Given the description of an element on the screen output the (x, y) to click on. 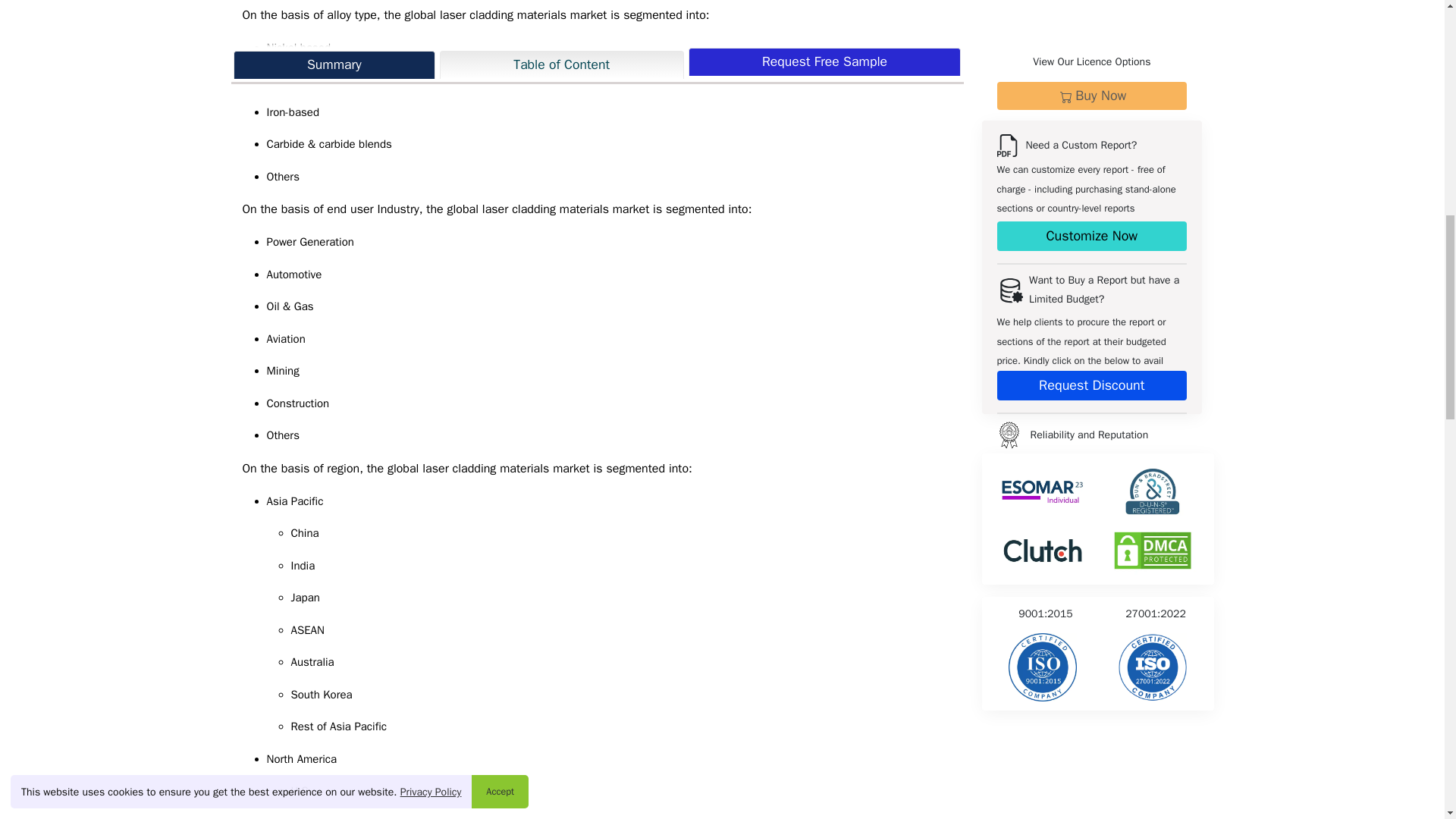
Reliability and Reputation (1043, 12)
Reliability and Reputation (1152, 12)
